Given the description of an element on the screen output the (x, y) to click on. 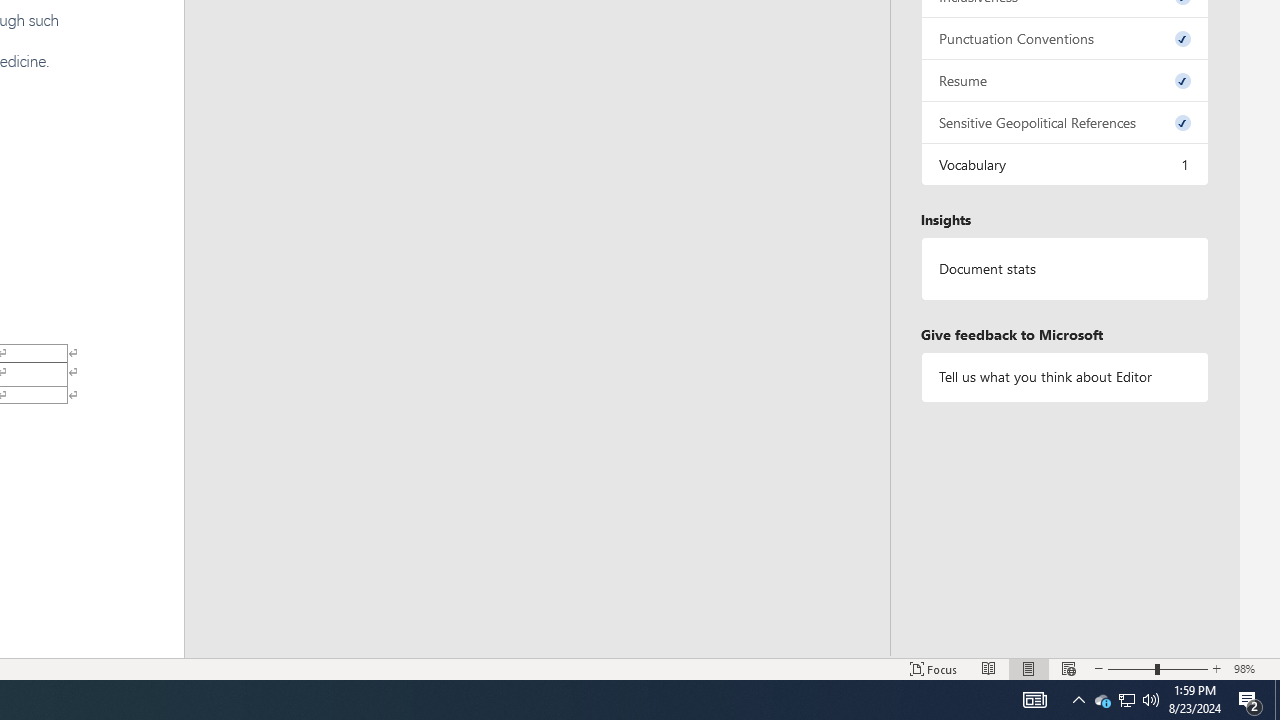
Document statistics (1064, 269)
Vocabulary, 1 issue. Press space or enter to review items. (1064, 164)
Tell us what you think about Editor (1064, 376)
Resume, 0 issues. Press space or enter to review items. (1064, 79)
